Given the description of an element on the screen output the (x, y) to click on. 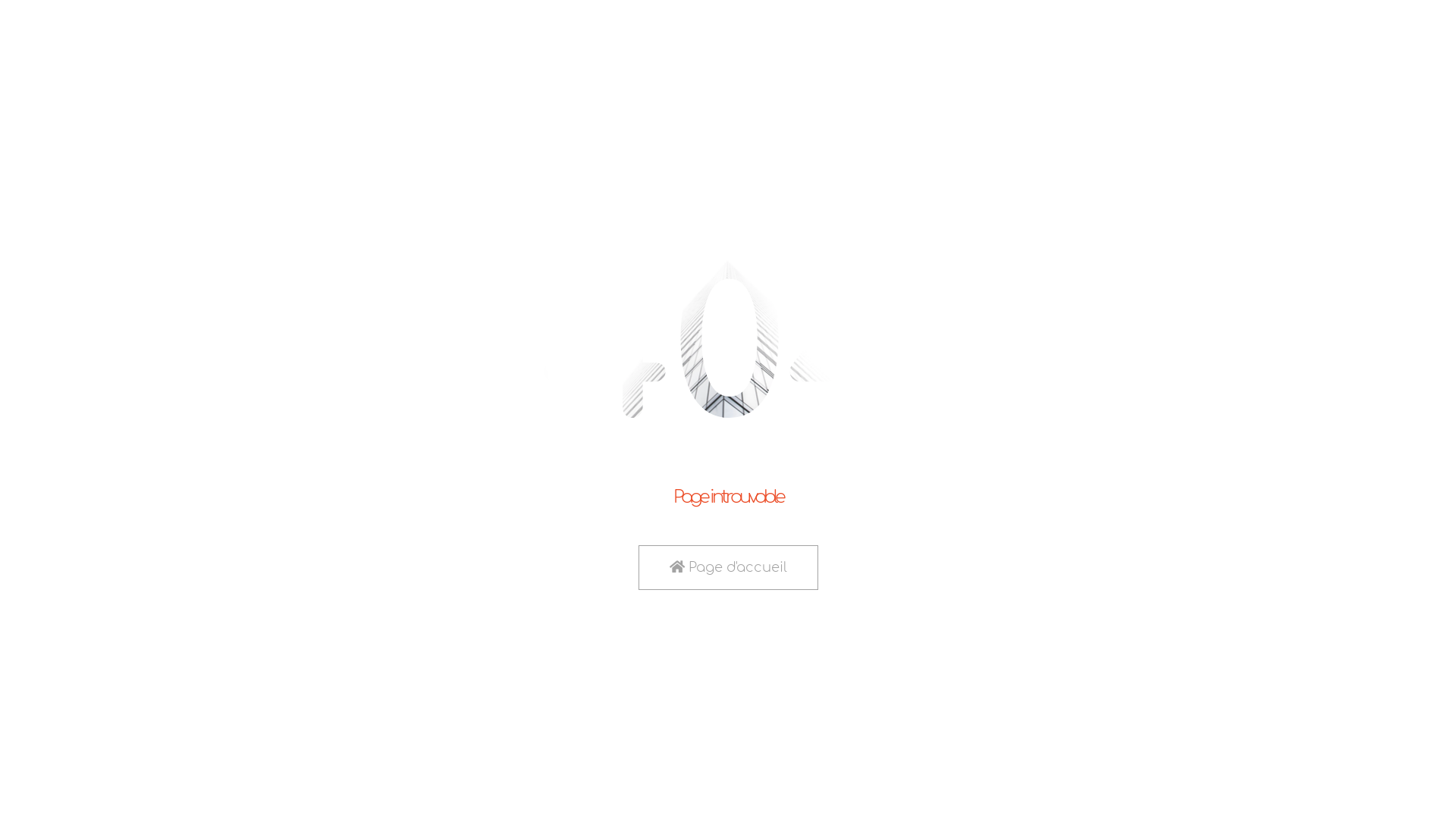
Page d'accueil Element type: text (727, 567)
